Given the description of an element on the screen output the (x, y) to click on. 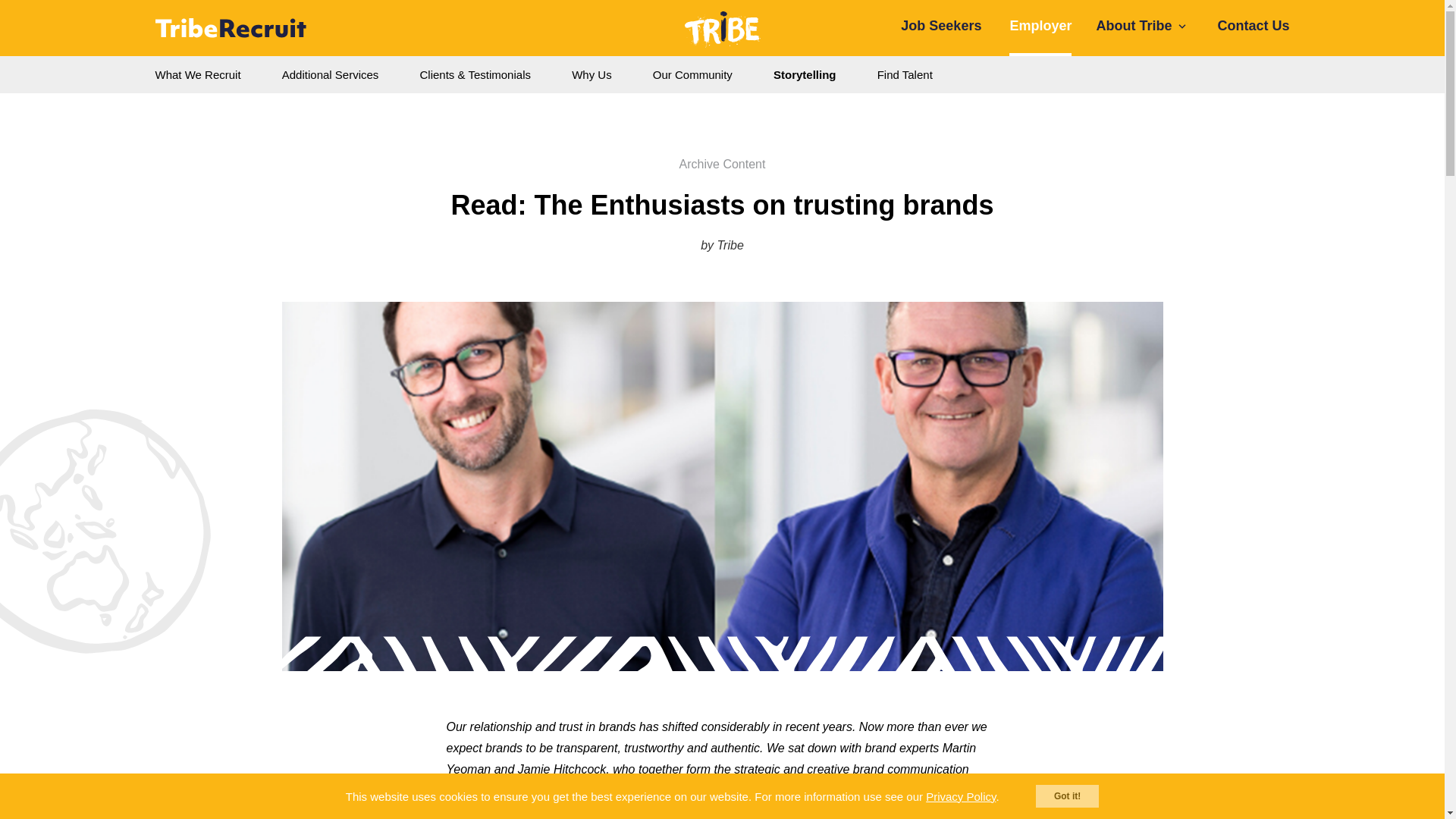
What We Recruit (197, 75)
Additional Services (330, 75)
Contact Us (1252, 28)
Job Seekers (941, 28)
About Tribe (1142, 28)
Our Community (693, 75)
About Tribe (1142, 28)
Find Talent (904, 75)
Contact Us (1252, 28)
Storytelling (804, 75)
Why Us (591, 75)
Employer (1040, 28)
